Given the description of an element on the screen output the (x, y) to click on. 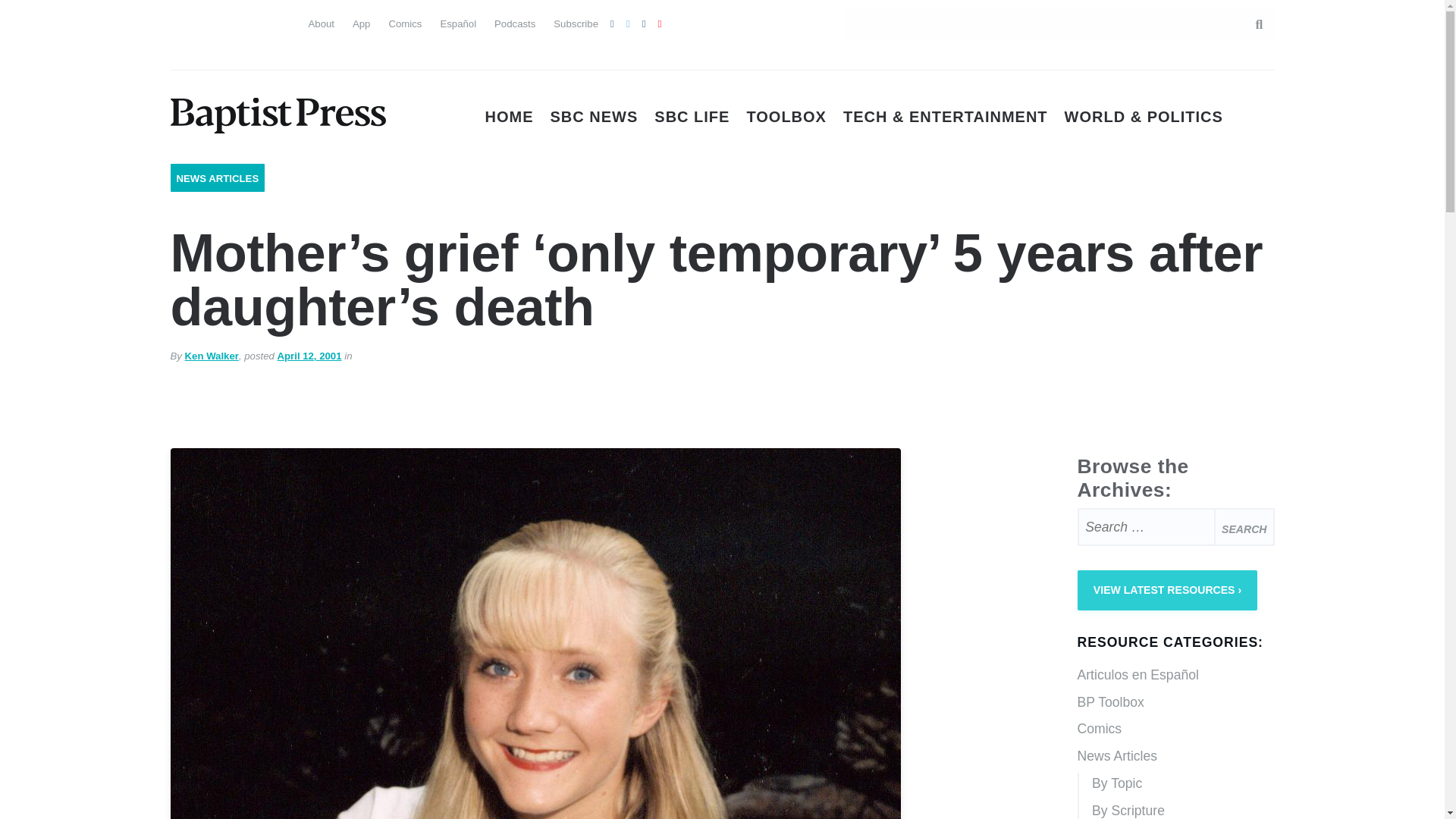
Ken Walker (211, 355)
Spanish (209, 21)
Portuguese (237, 21)
Haitian (182, 51)
April 12, 2001 (310, 355)
Podcasts (515, 23)
VIEW LATEST RESOURCES (1167, 590)
Korean (237, 51)
French (263, 21)
English (182, 21)
